Given the description of an element on the screen output the (x, y) to click on. 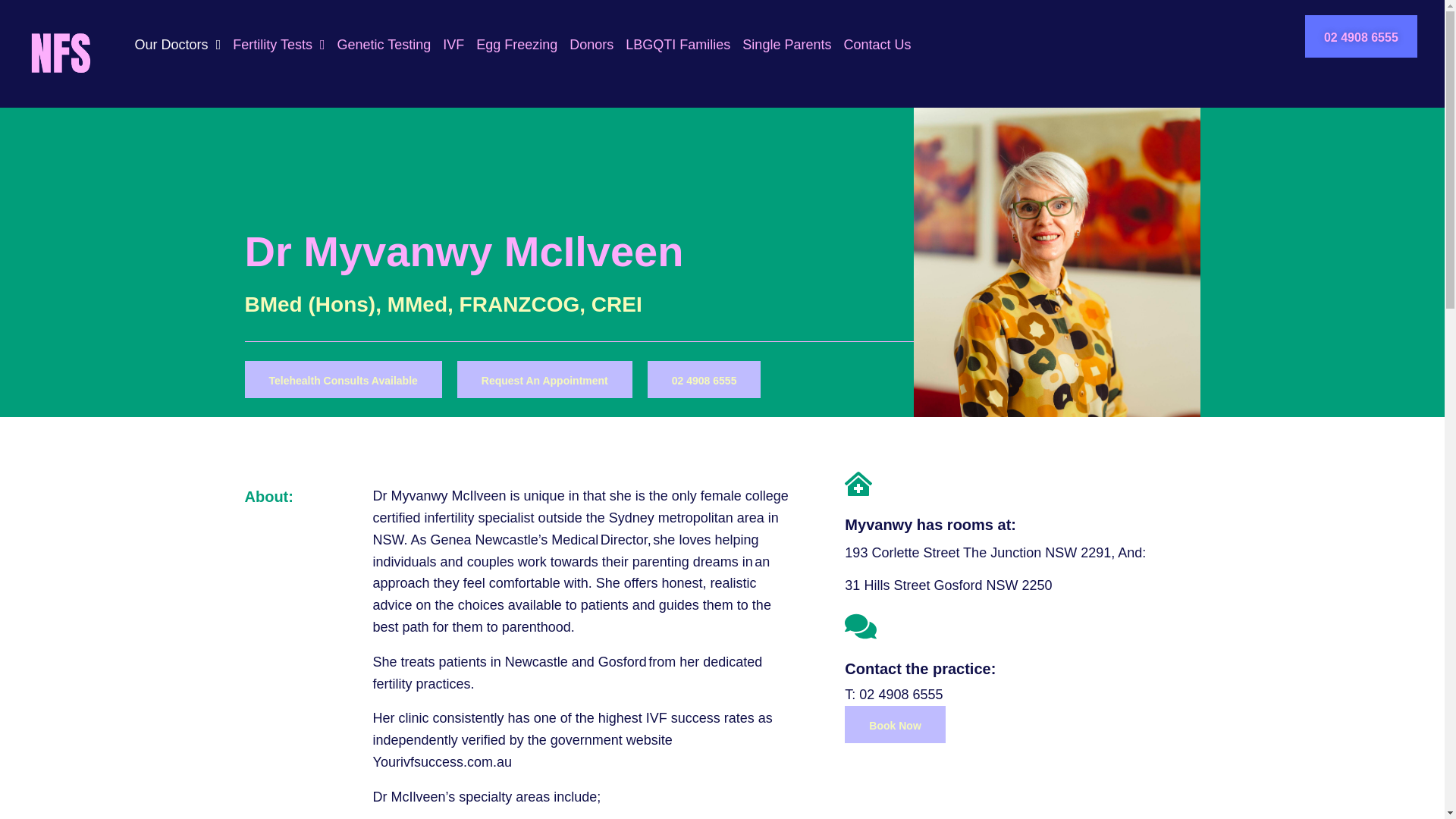
Single Parents (786, 44)
Egg Freezing (516, 44)
02 4908 6555 (1360, 36)
Genetic Testing (383, 44)
Our Doctors (178, 44)
Donors (590, 44)
Contact Us (877, 44)
LBGQTI Families (678, 44)
Fertility Tests (278, 44)
